Given the description of an element on the screen output the (x, y) to click on. 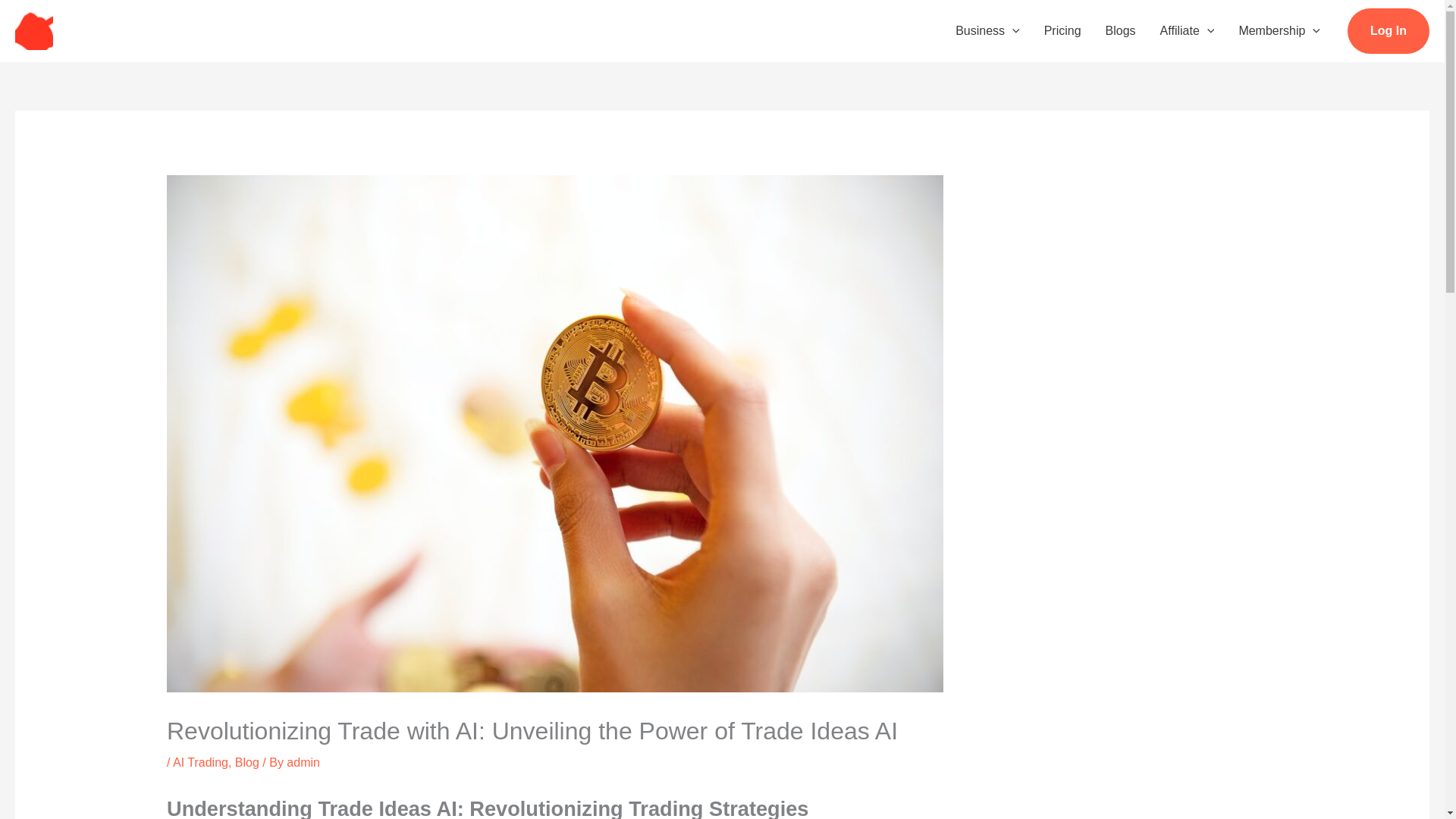
Blogs (1120, 30)
Business (987, 30)
Membership (1278, 30)
Log In (1388, 31)
View all posts by admin (303, 762)
Pricing (1062, 30)
Affiliate (1187, 30)
